Given the description of an element on the screen output the (x, y) to click on. 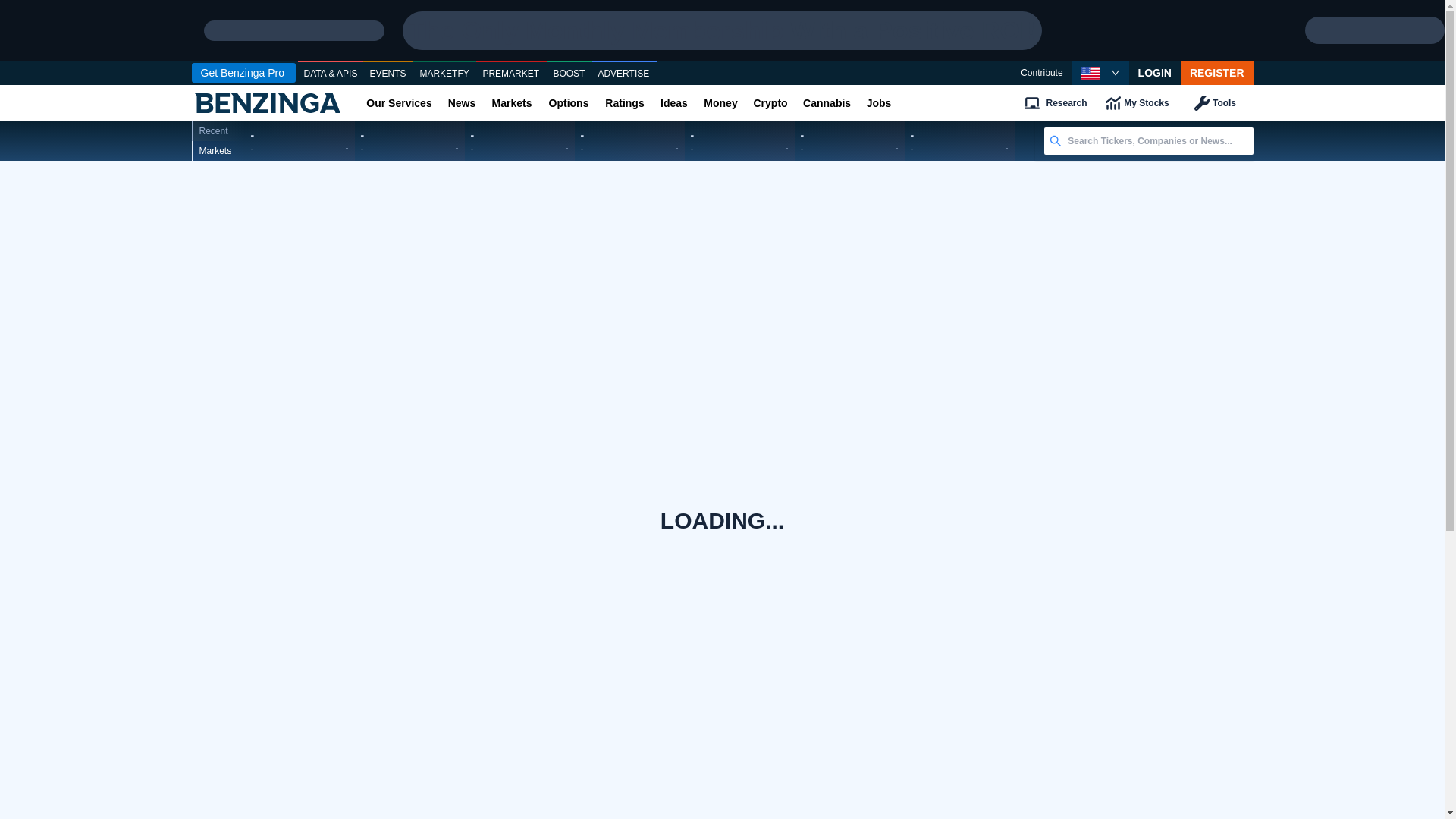
Our Services (398, 103)
Our Services (398, 103)
Contribute (1041, 72)
LOGIN (1154, 72)
News (461, 103)
MARKETFY (444, 73)
REGISTER (1216, 72)
USA (1090, 72)
Get Benzinga Pro (242, 72)
BOOST (569, 73)
